Given the description of an element on the screen output the (x, y) to click on. 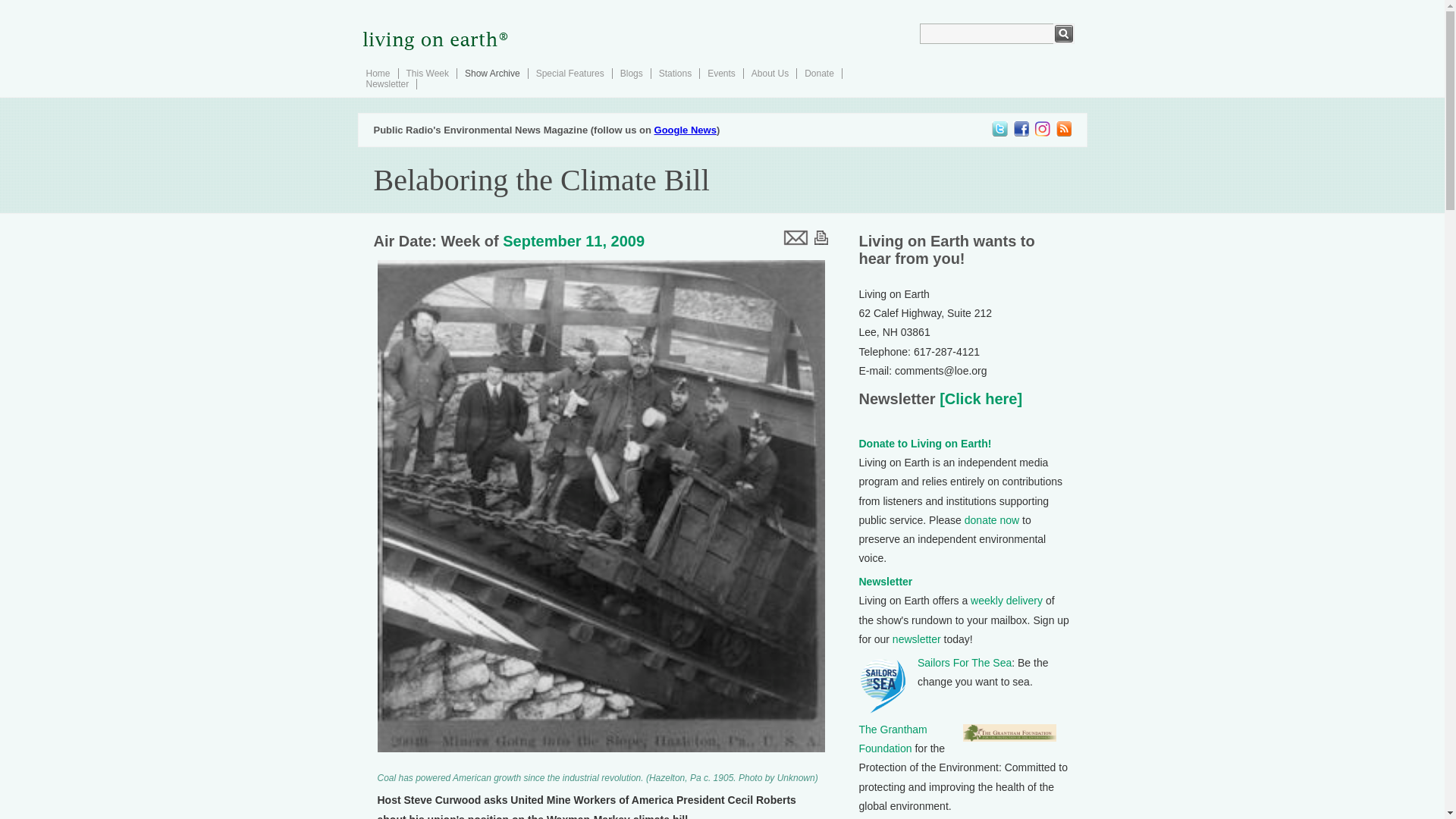
email (794, 236)
Stations (675, 72)
Events (721, 72)
The Grantham Foundation (892, 738)
print (819, 236)
weekly delivery (1006, 600)
donate now (991, 520)
Donate (819, 72)
This Week (427, 72)
Sailors For The Sea (964, 662)
